Given the description of an element on the screen output the (x, y) to click on. 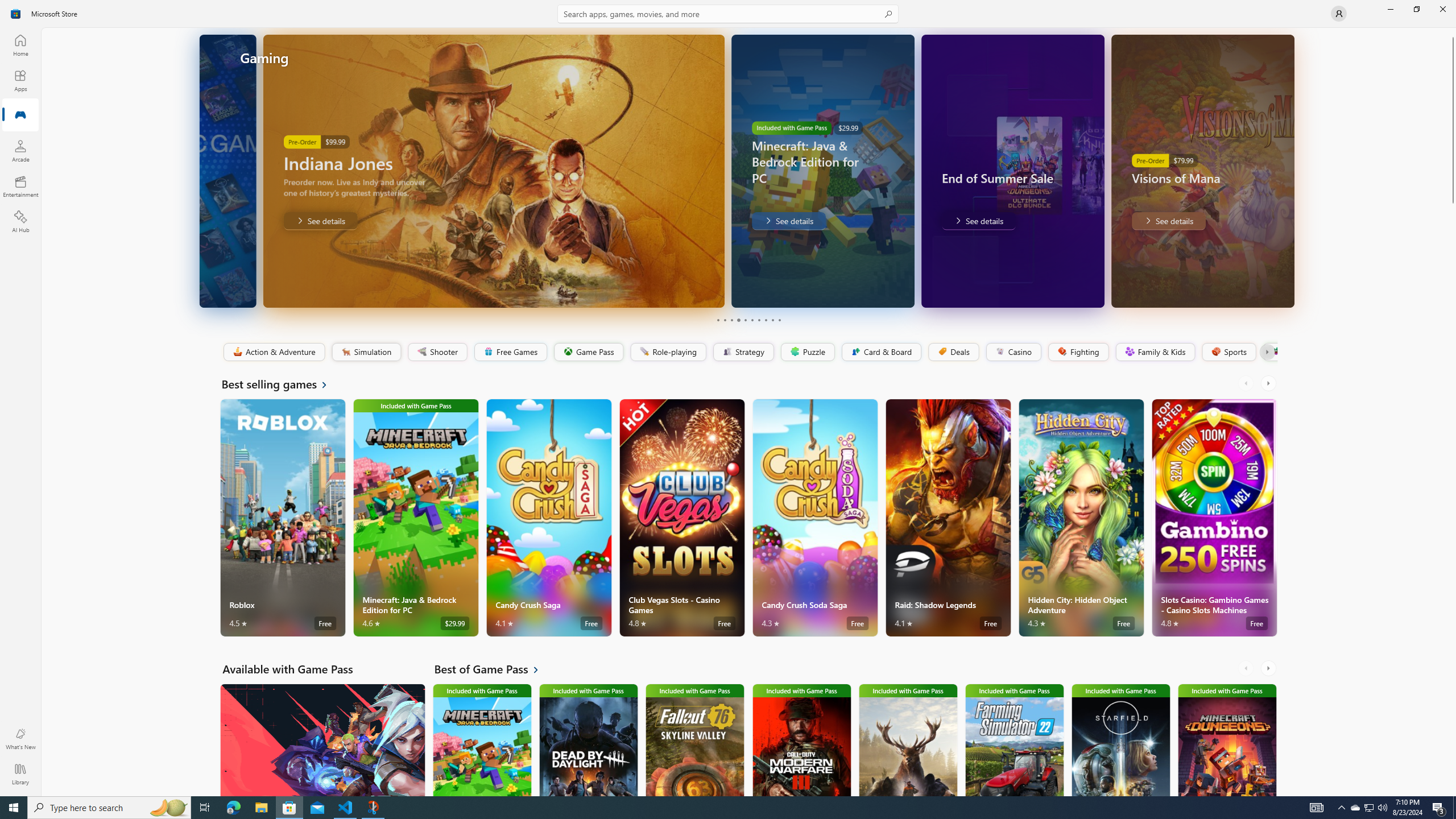
Sports (1228, 352)
See all  Best of Game Pass (493, 668)
Deals (952, 352)
User profile (1338, 13)
Apps (20, 80)
Shooter (436, 352)
Page 4 (738, 319)
Page 5 (744, 319)
Entertainment (20, 185)
Page 2 (724, 319)
Role-playing (668, 352)
Vertical Large Increase (1452, 496)
